Given the description of an element on the screen output the (x, y) to click on. 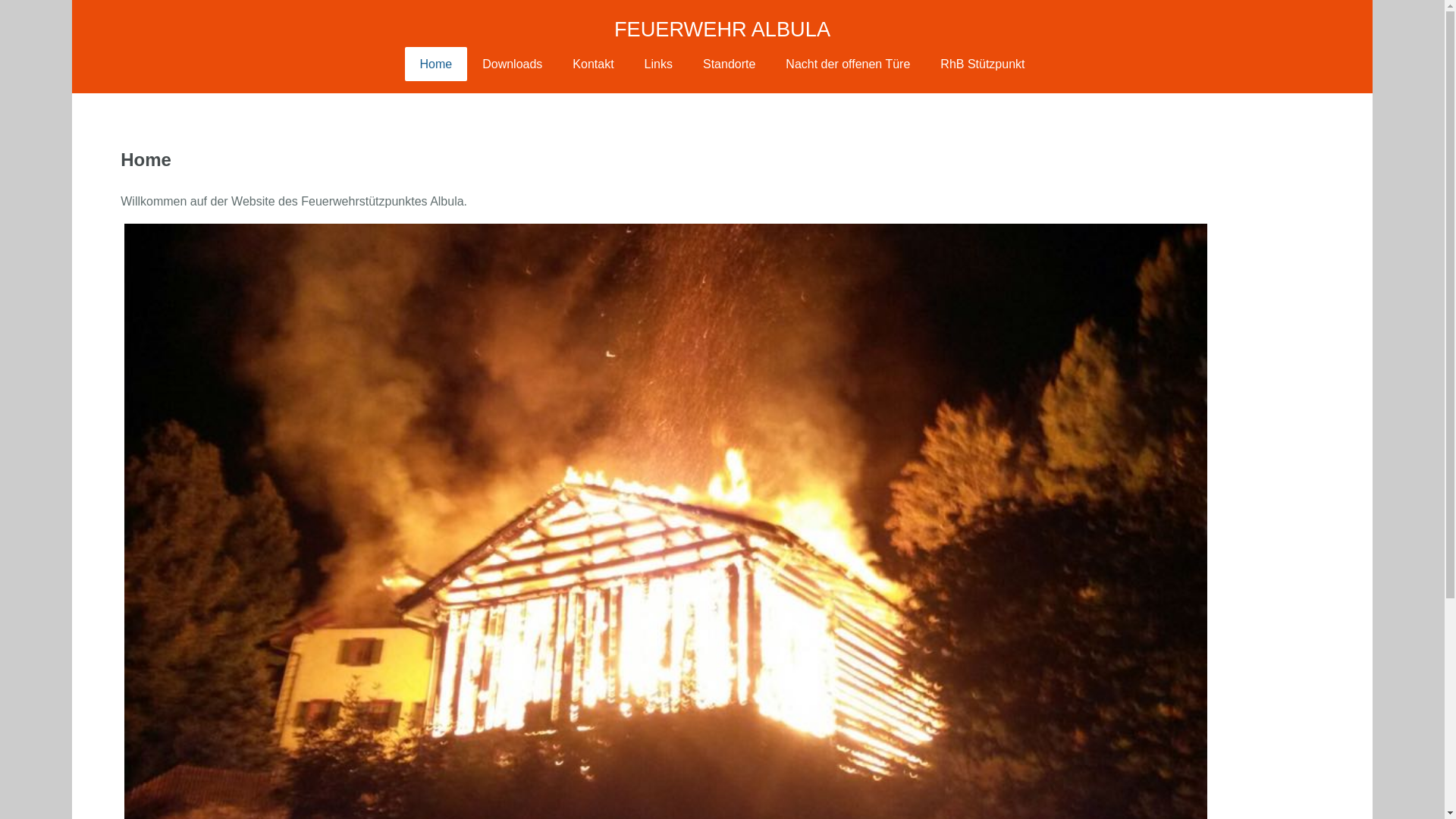
Standorte Element type: text (728, 64)
Kontakt Element type: text (592, 64)
Links Element type: text (658, 64)
Home Element type: text (435, 64)
FEUERWEHR ALBULA Element type: text (722, 28)
Downloads Element type: text (512, 64)
